Given the description of an element on the screen output the (x, y) to click on. 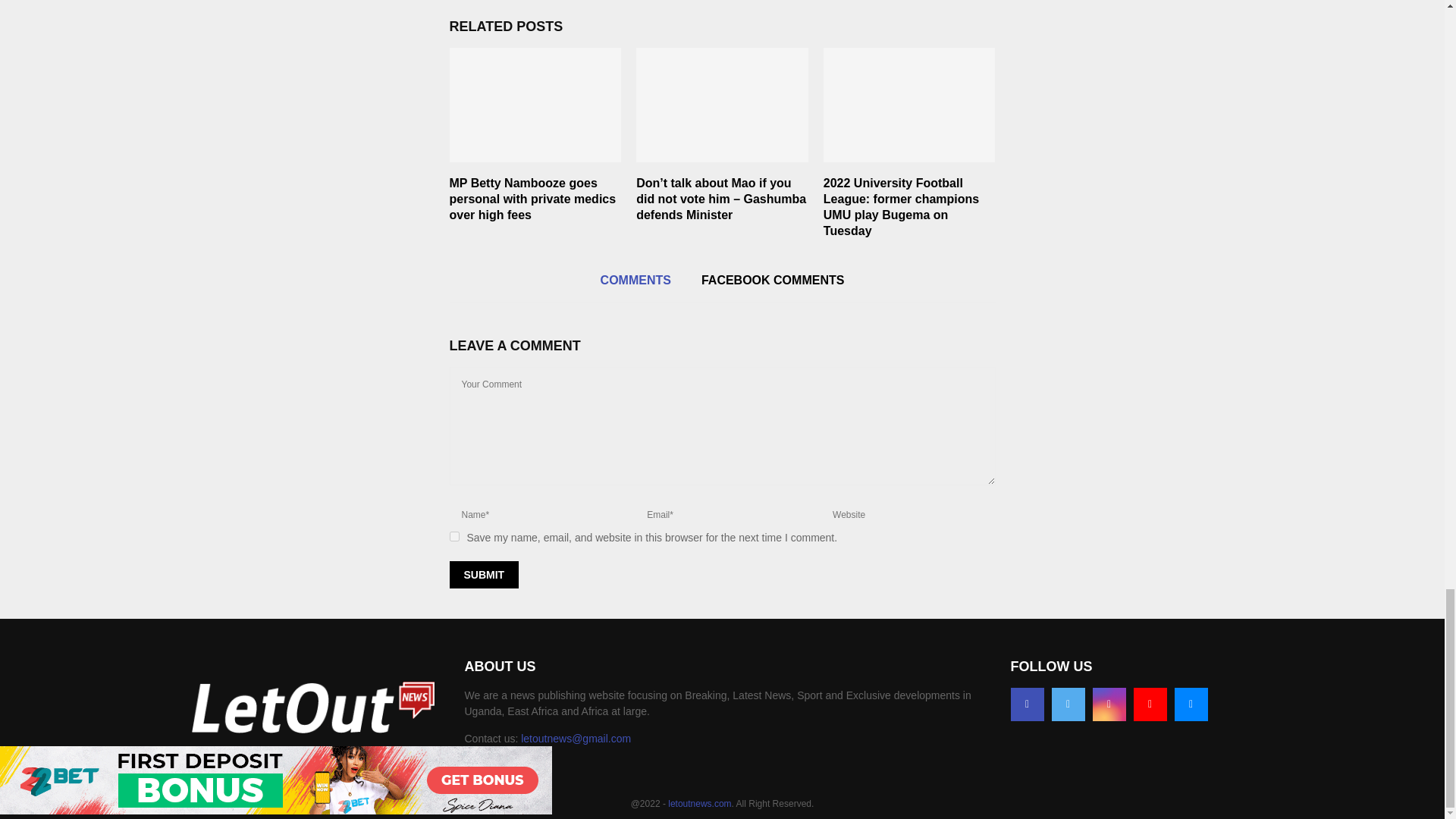
yes (453, 536)
Submit (483, 574)
